Given the description of an element on the screen output the (x, y) to click on. 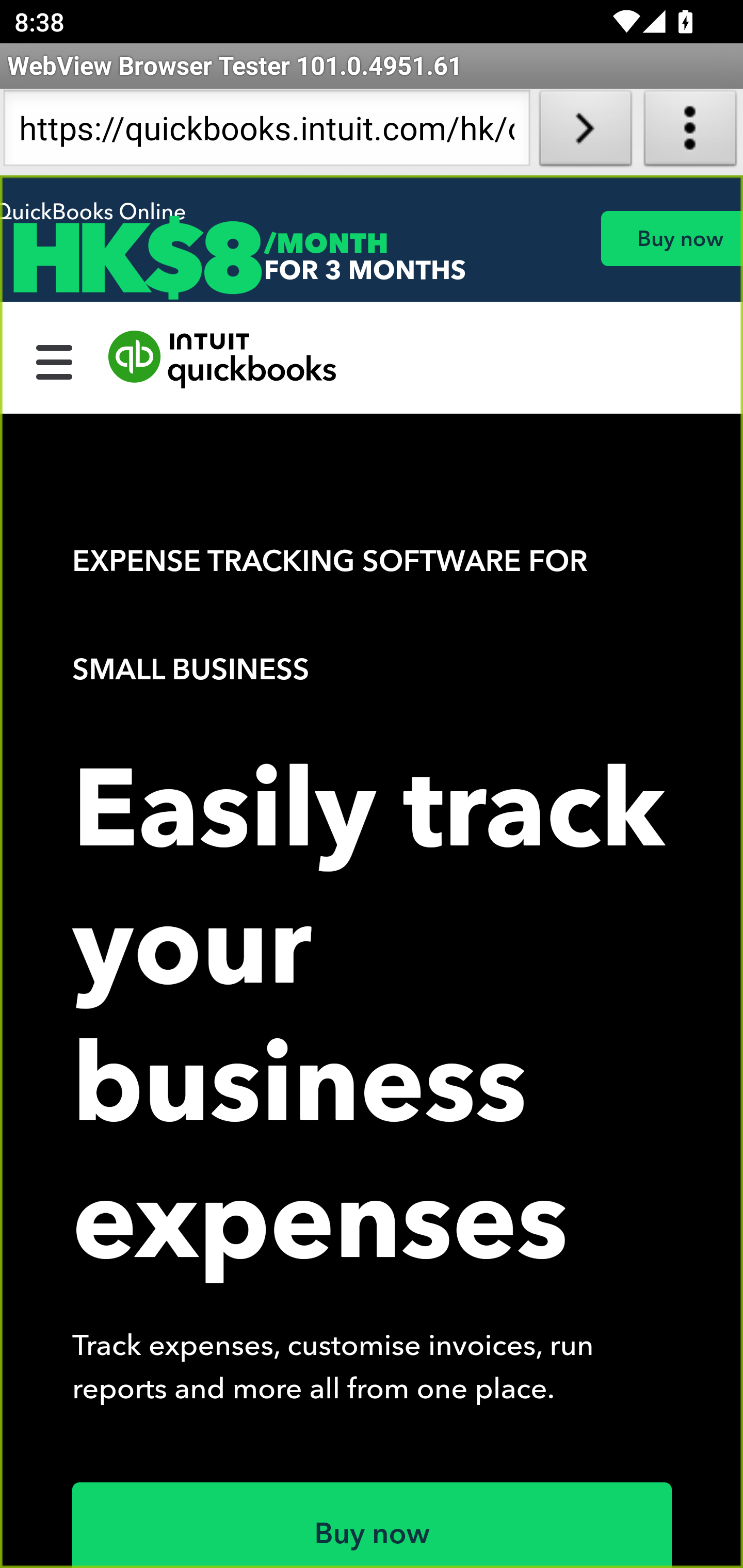
Load URL (585, 132)
About WebView (690, 132)
Buy now (671, 238)
quickbooks-mobile-burger (54, 359)
quickbooks (222, 359)
Buy now (372, 1524)
